Given the description of an element on the screen output the (x, y) to click on. 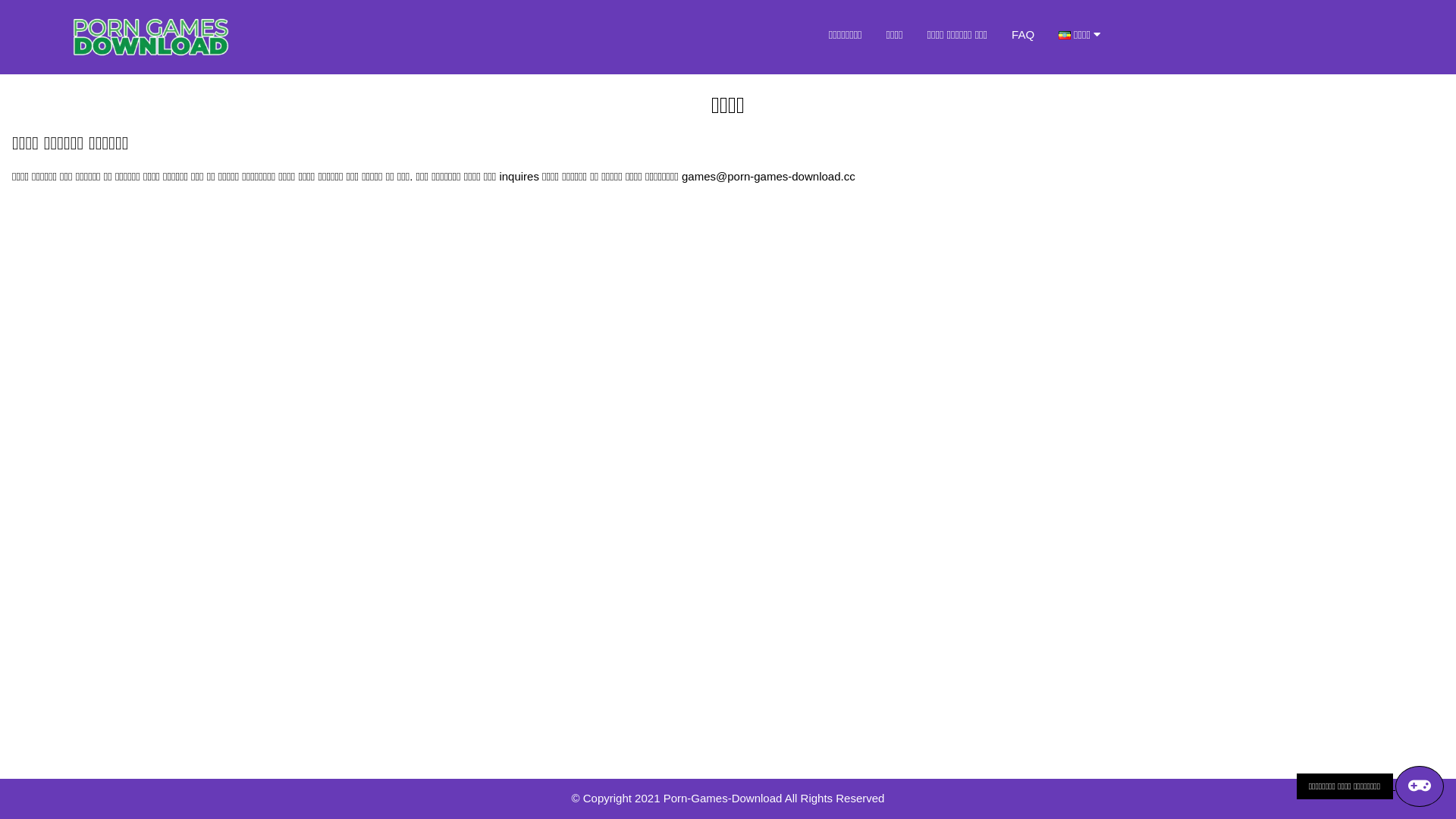
FAQ Element type: text (1022, 35)
